Given the description of an element on the screen output the (x, y) to click on. 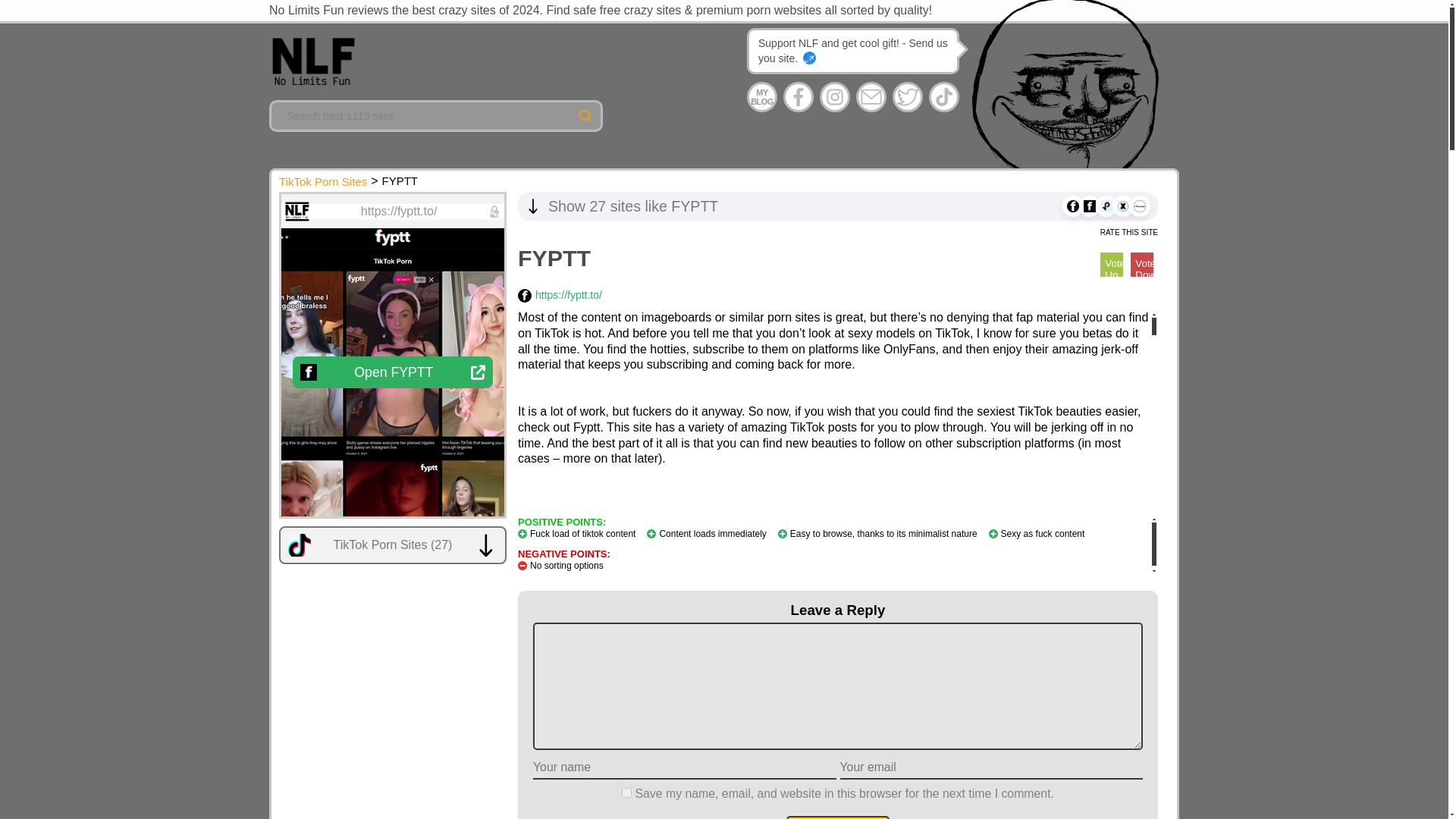
Post Comment (837, 817)
MY BLOG (761, 96)
Search for: (435, 115)
yes (626, 792)
